Given the description of an element on the screen output the (x, y) to click on. 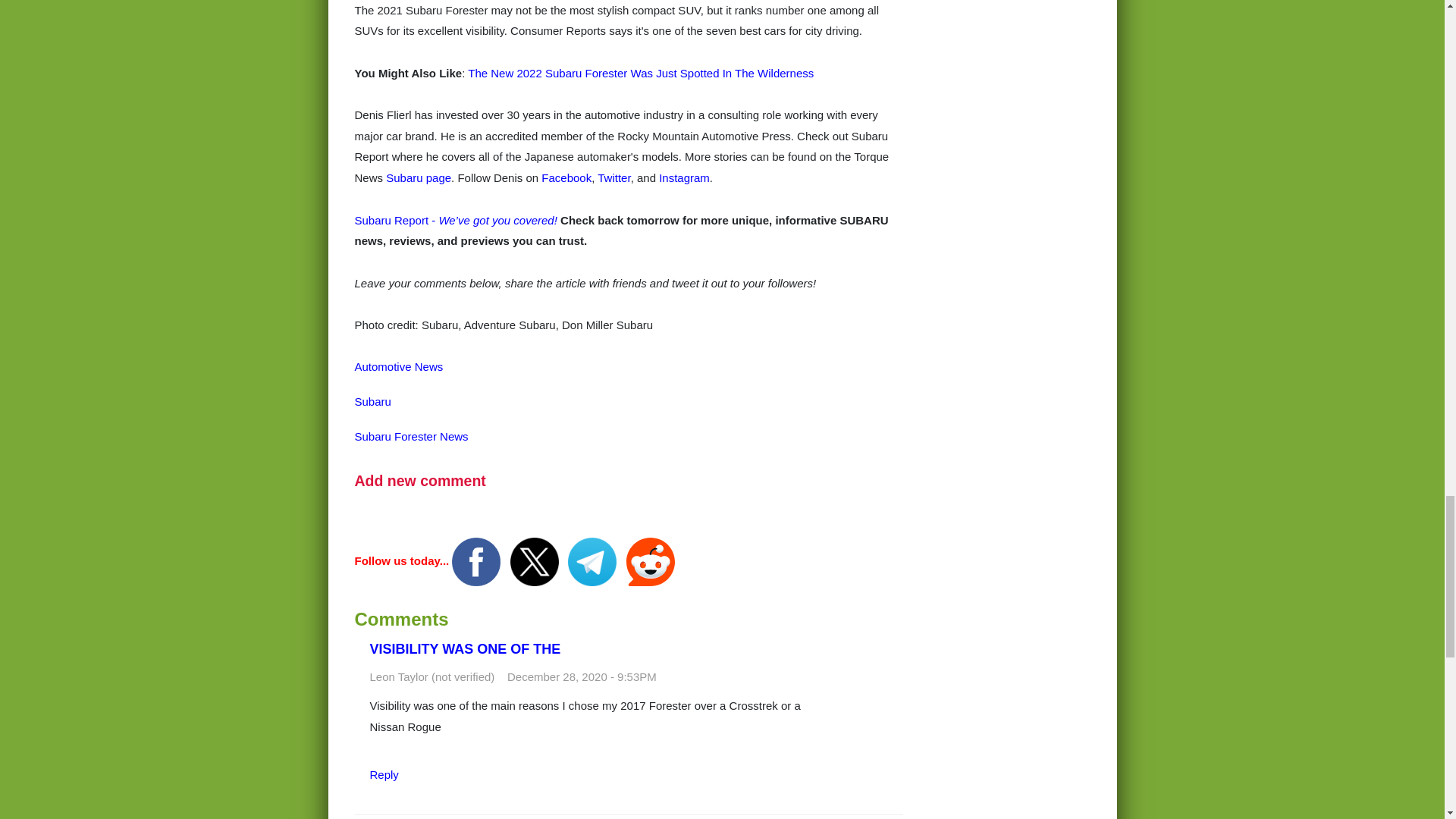
Subaru page (418, 177)
Join us on Telegram! (593, 560)
Instagram (684, 177)
Twitter (613, 177)
Add new comment (420, 480)
Subaru Forester News (411, 436)
Join us on Reddit! (650, 560)
Facebook (566, 177)
Share your thoughts and opinions. (420, 480)
